Given the description of an element on the screen output the (x, y) to click on. 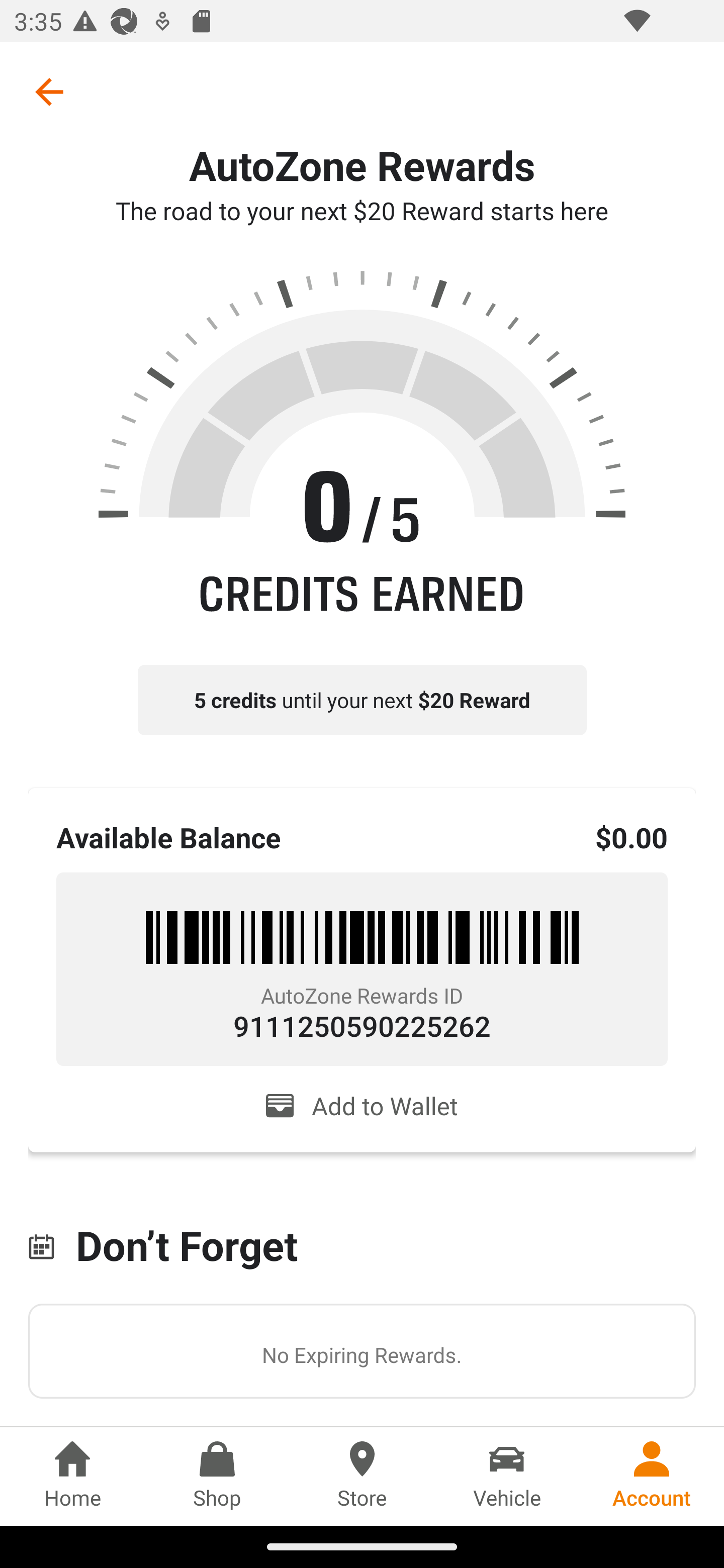
back-button  (49, 91)
Add to Wallet (361, 1105)
Home (72, 1475)
Shop (216, 1475)
Store (361, 1475)
Vehicle (506, 1475)
Account (651, 1475)
